Given the description of an element on the screen output the (x, y) to click on. 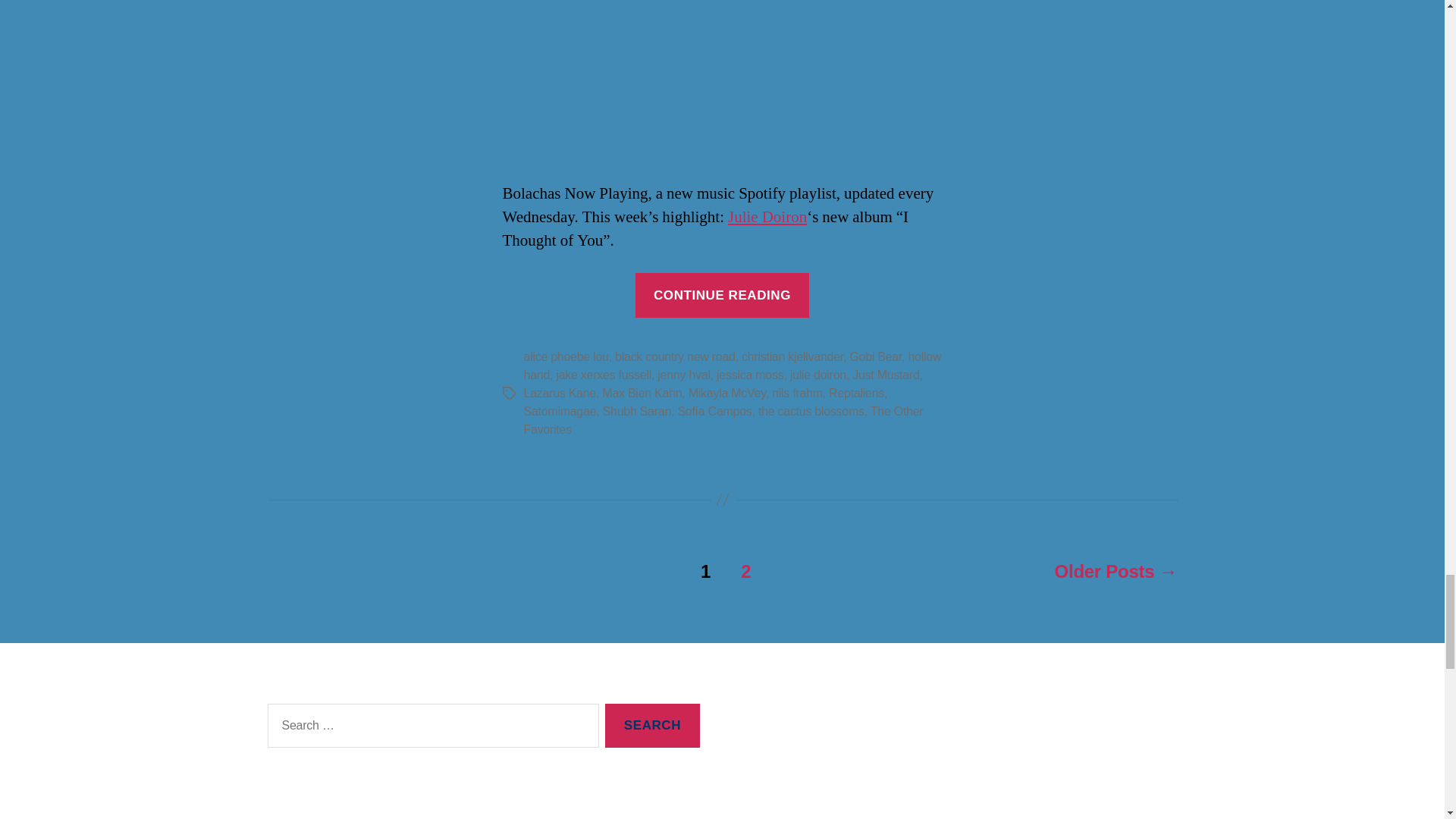
Search (651, 725)
Search (651, 725)
